Given the description of an element on the screen output the (x, y) to click on. 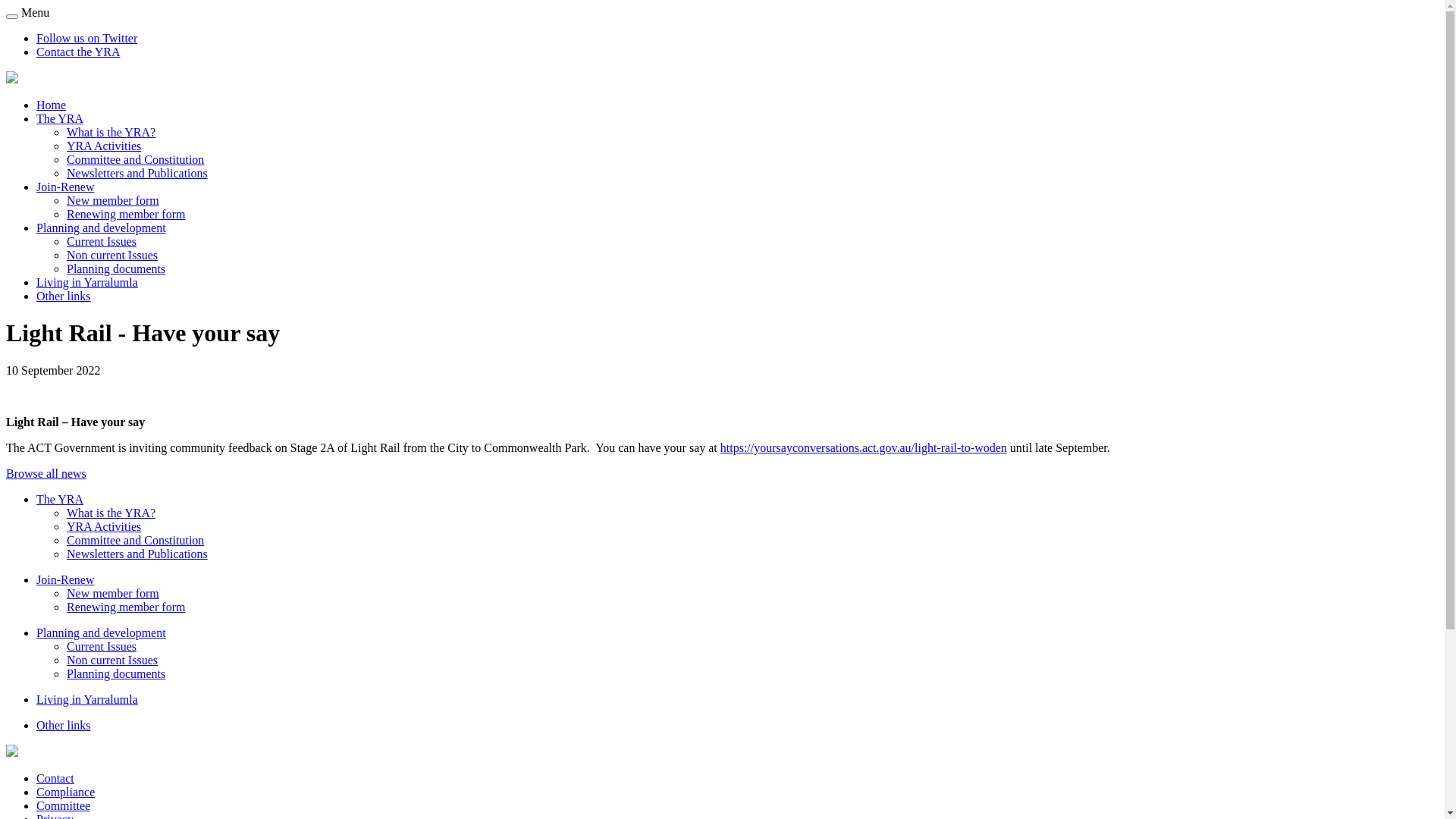
Non current Issues Element type: text (111, 659)
Renewing member form Element type: text (125, 606)
Planning documents Element type: text (115, 673)
Newsletters and Publications Element type: text (136, 172)
Contact Element type: text (55, 777)
Current Issues Element type: text (101, 241)
Other links Element type: text (63, 295)
Browse all news Element type: text (46, 473)
Living in Yarralumla Element type: text (87, 699)
What is the YRA? Element type: text (110, 512)
Planning and development Element type: text (101, 227)
Committee Element type: text (63, 805)
New member form Element type: text (112, 592)
Committee and Constitution Element type: text (134, 539)
New member form Element type: text (112, 200)
Renewing member form Element type: text (125, 213)
Compliance Element type: text (65, 791)
YRA Activities Element type: text (103, 145)
YRA Activities Element type: text (103, 526)
Planning and development Element type: text (101, 632)
Planning documents Element type: text (115, 268)
Other links Element type: text (63, 724)
Follow us on Twitter Element type: text (86, 37)
Join-Renew Element type: text (65, 579)
Home Element type: text (50, 104)
What is the YRA? Element type: text (110, 131)
Contact the YRA Element type: text (78, 51)
Non current Issues Element type: text (111, 254)
Newsletters and Publications Element type: text (136, 553)
https://yoursayconversations.act.gov.au/light-rail-to-woden Element type: text (863, 447)
The YRA Element type: text (59, 498)
Committee and Constitution Element type: text (134, 159)
Current Issues Element type: text (101, 646)
The YRA Element type: text (59, 118)
Living in Yarralumla Element type: text (87, 282)
Join-Renew Element type: text (65, 186)
